Given the description of an element on the screen output the (x, y) to click on. 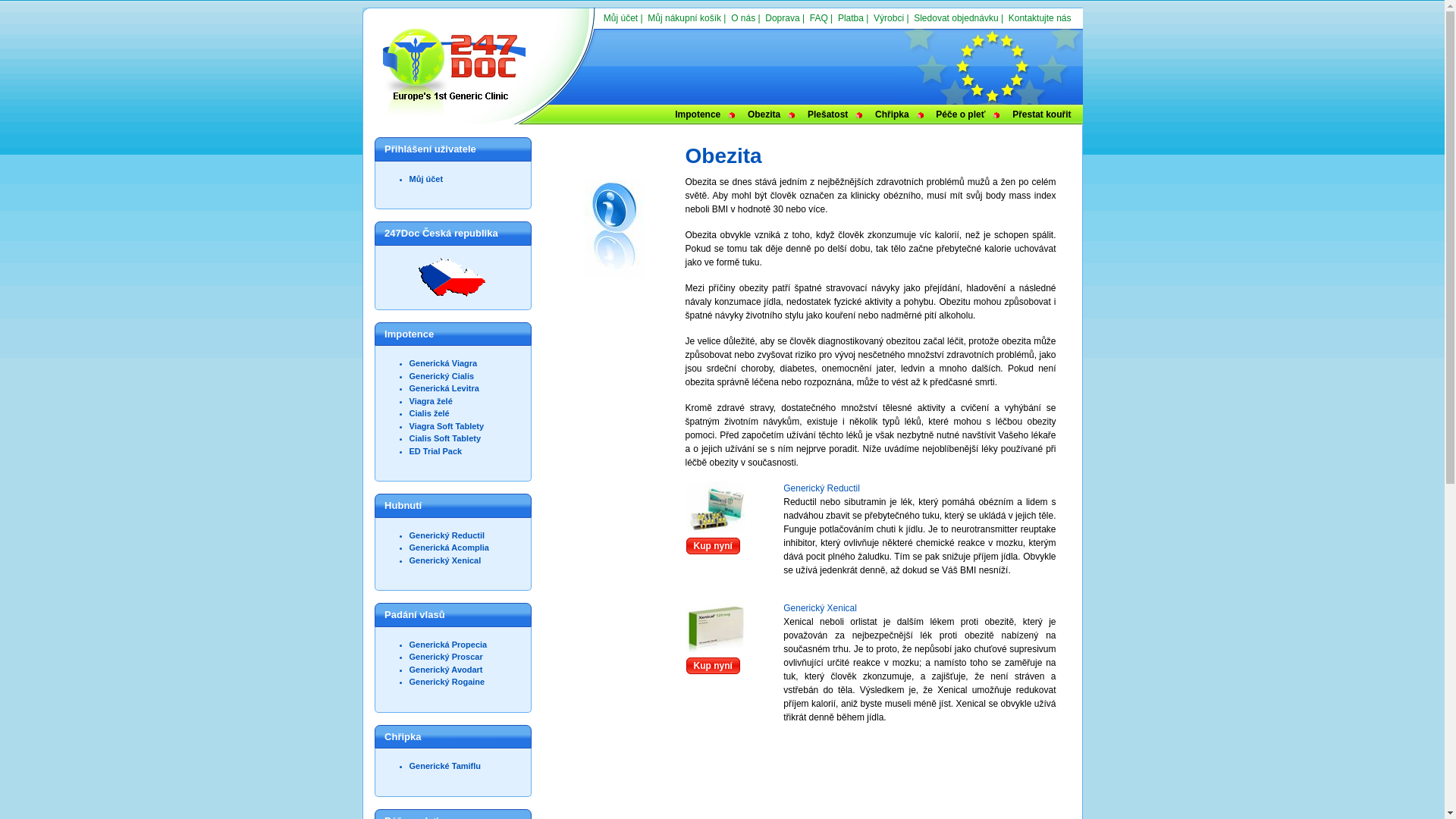
Platba Element type: text (850, 17)
Obezita Element type: text (763, 114)
FAQ Element type: text (818, 17)
Doprava Element type: text (782, 17)
Cialis Soft Tablety Element type: text (445, 437)
Impotence Element type: text (697, 114)
Viagra Soft Tablety Element type: text (446, 425)
ED Trial Pack Element type: text (435, 450)
